Given the description of an element on the screen output the (x, y) to click on. 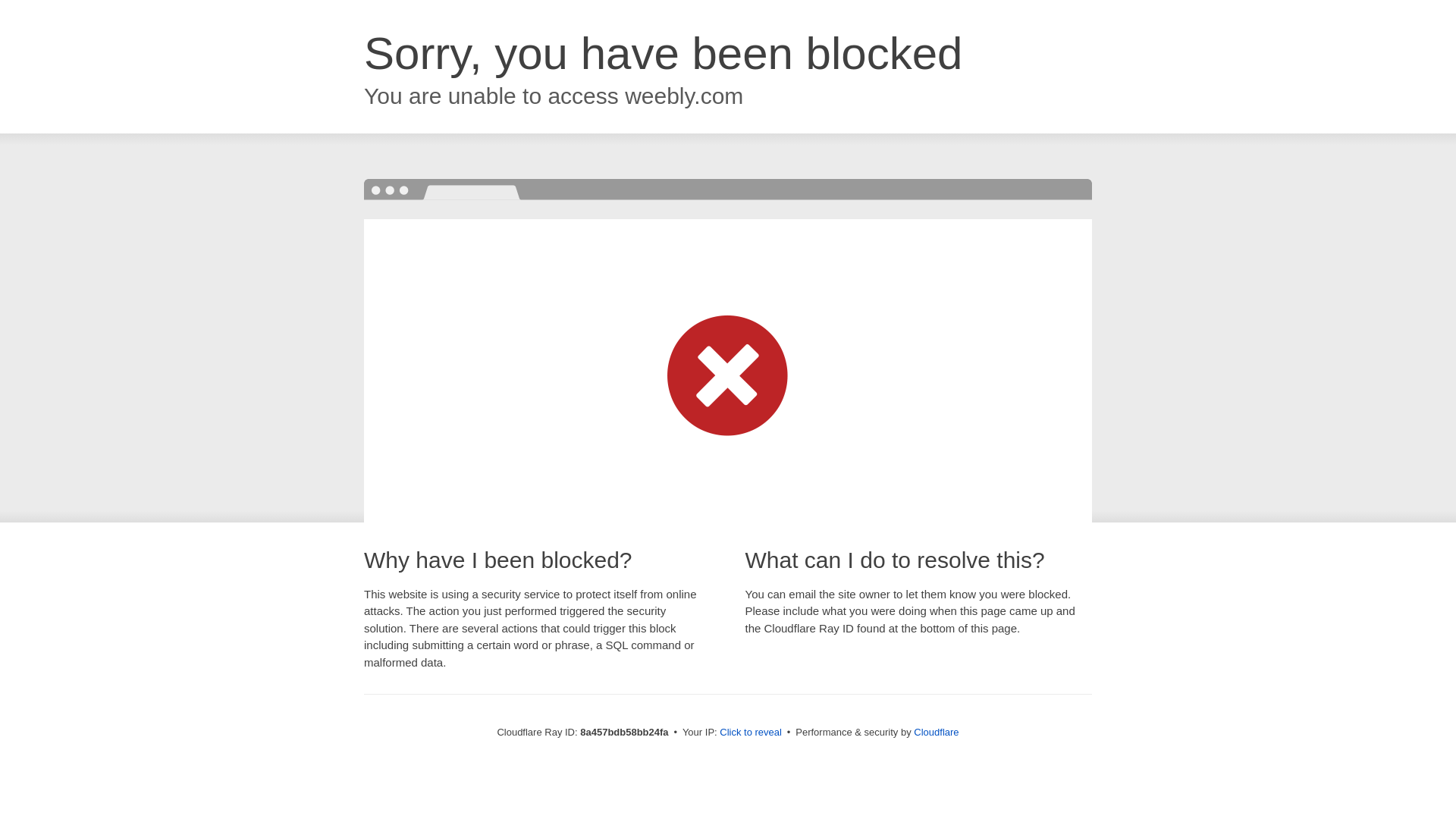
Click to reveal (750, 732)
Cloudflare (936, 731)
